Given the description of an element on the screen output the (x, y) to click on. 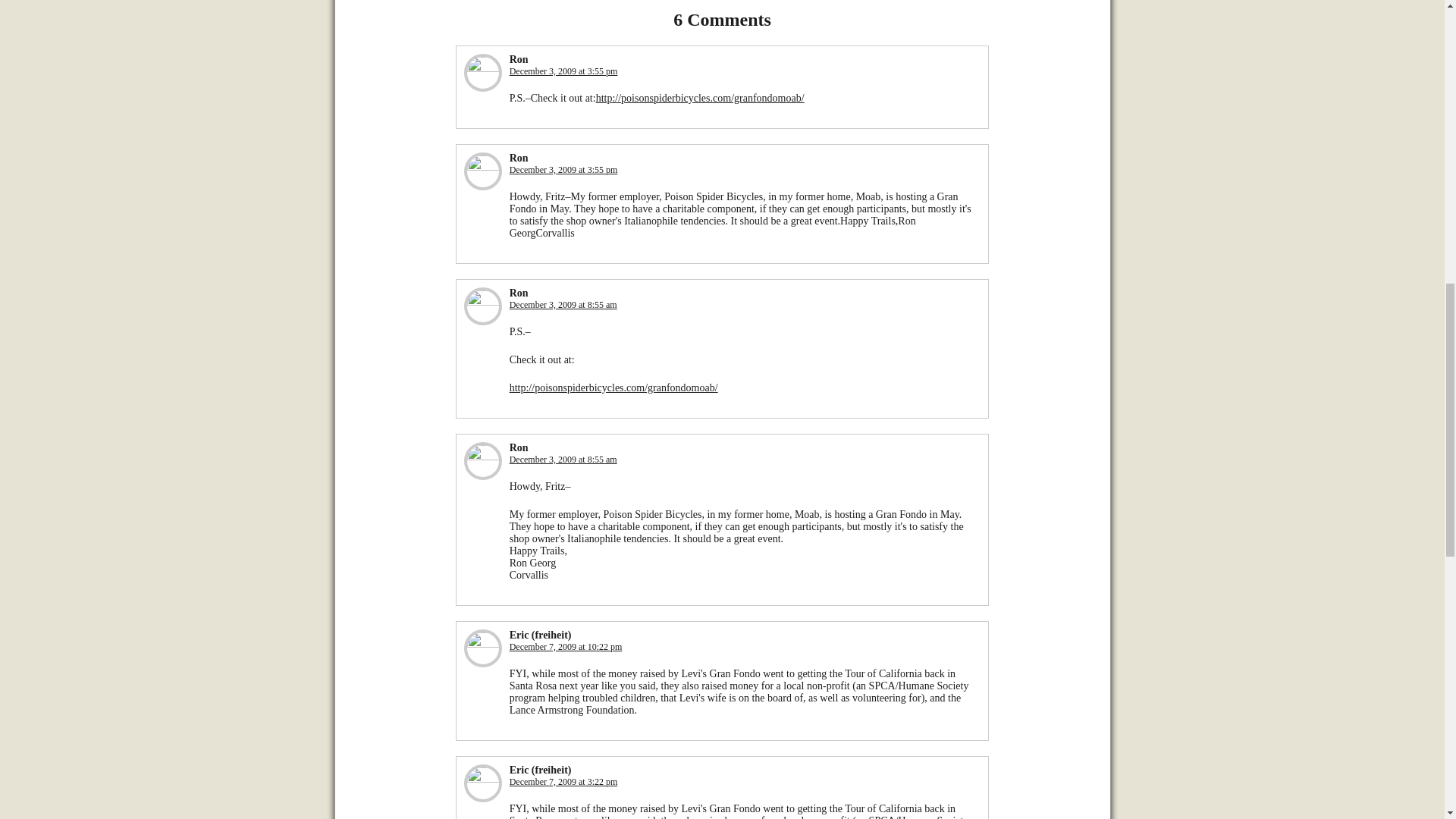
December 3, 2009 at 3:55 pm (563, 71)
December 3, 2009 at 8:55 am (563, 459)
December 7, 2009 at 3:22 pm (563, 781)
December 7, 2009 at 10:22 pm (566, 646)
December 3, 2009 at 3:55 pm (563, 169)
December 3, 2009 at 8:55 am (563, 304)
